Given the description of an element on the screen output the (x, y) to click on. 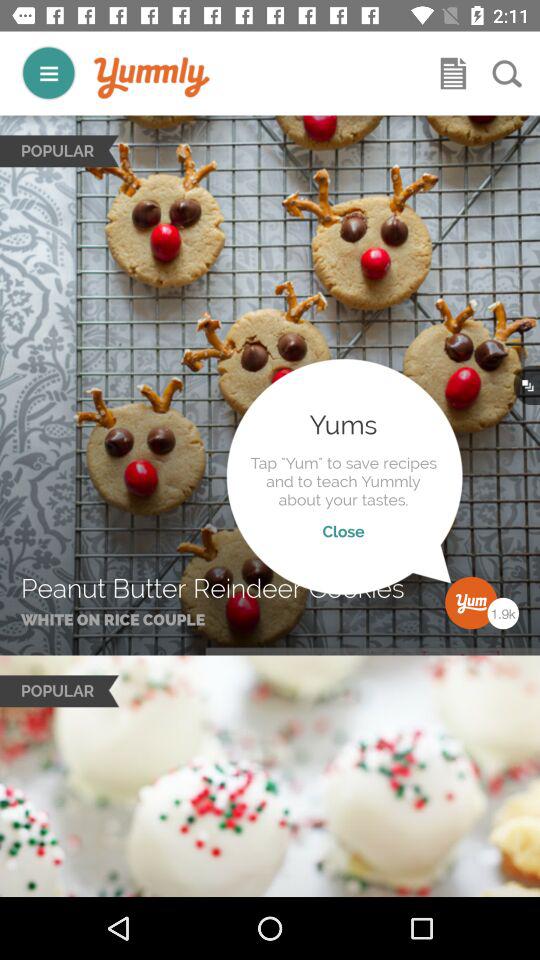
open menu (48, 72)
